Given the description of an element on the screen output the (x, y) to click on. 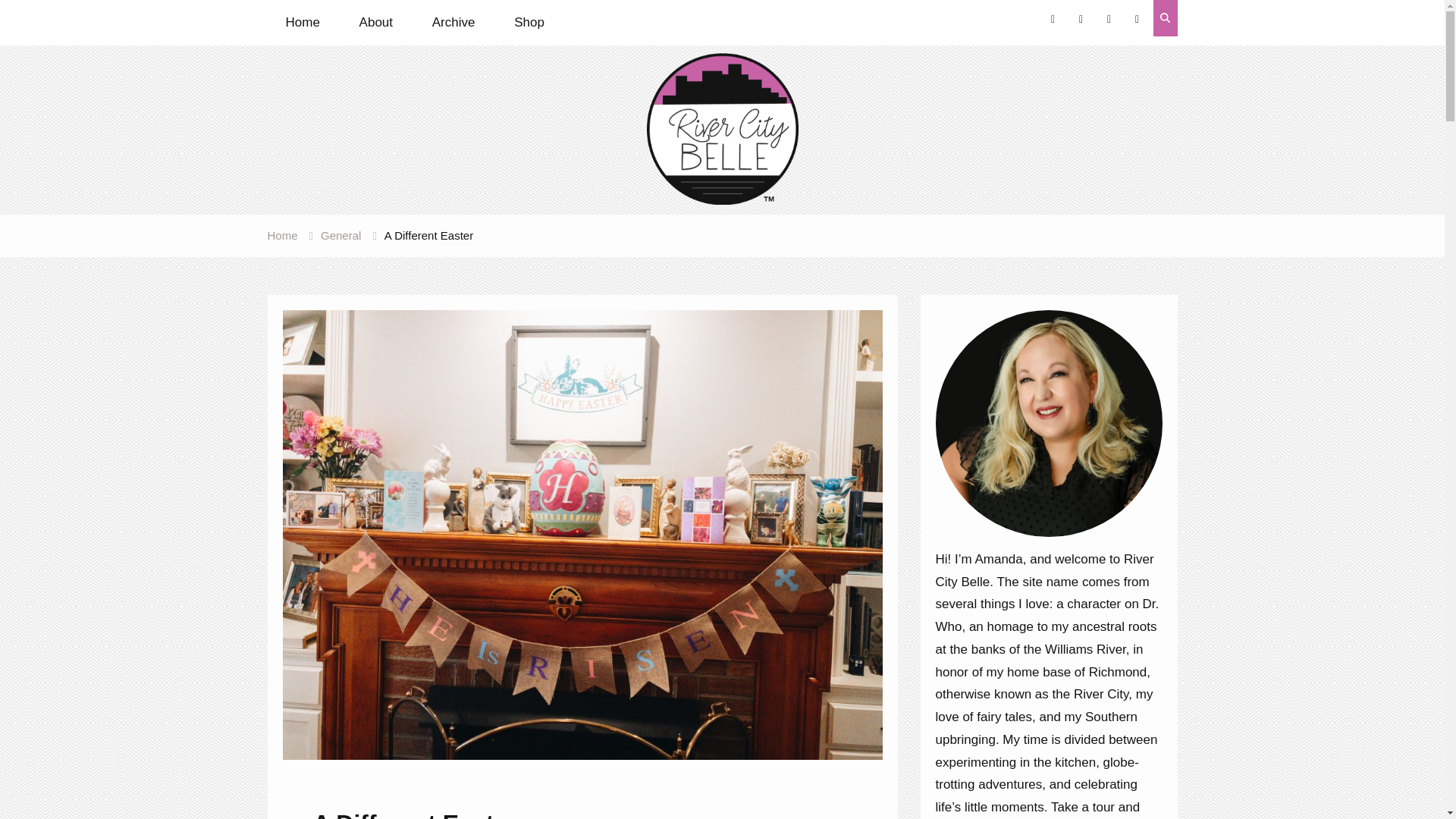
River City Belle on Pinterest (1080, 19)
Archive (454, 22)
River City Belle on Twitter (1108, 19)
Shop (529, 22)
Home (301, 22)
About (376, 22)
Home (281, 235)
River City Belle on Instagram (1052, 19)
General (340, 235)
River City Belle on Facebook (1137, 19)
